Given the description of an element on the screen output the (x, y) to click on. 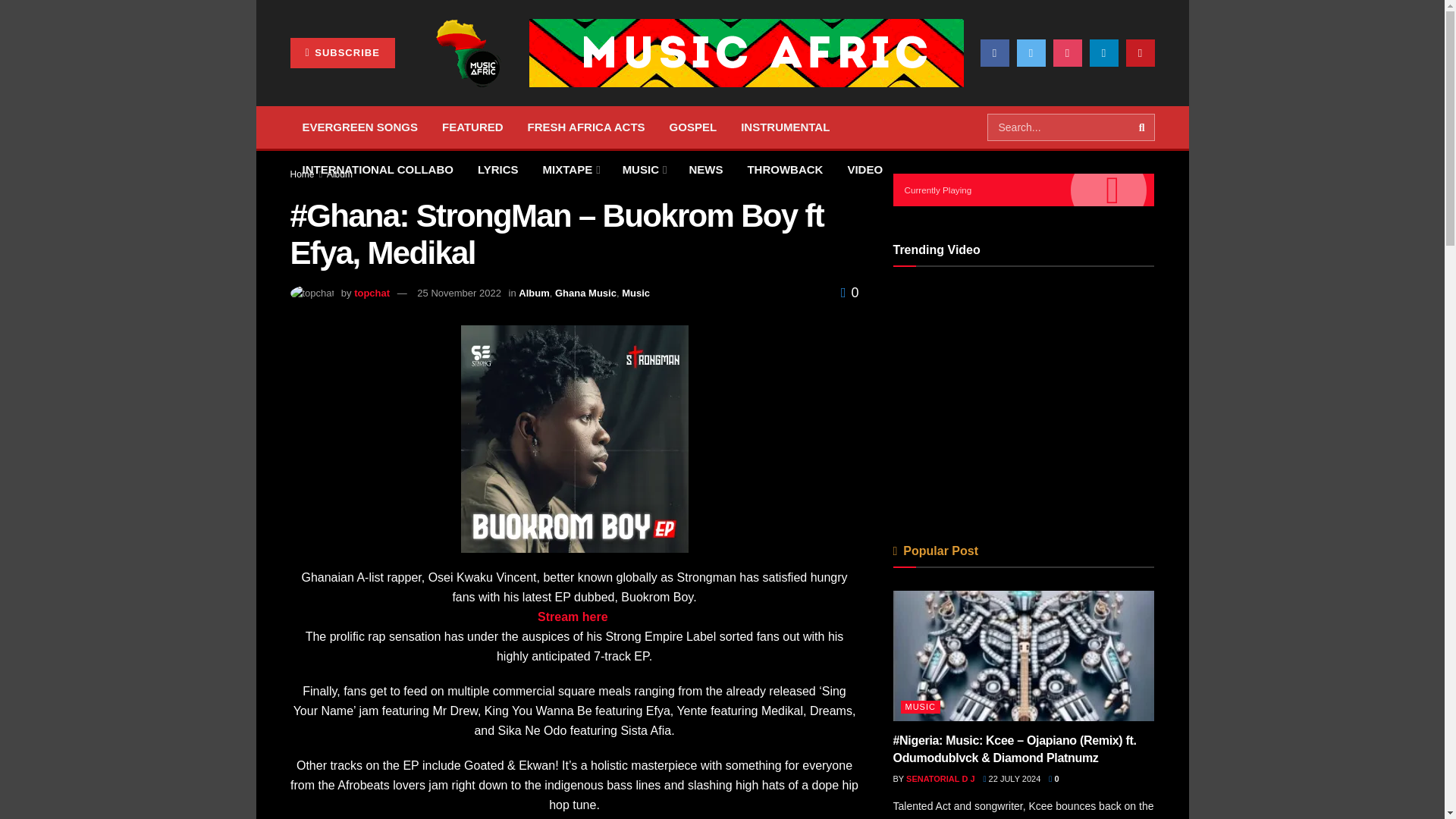
LYRICS (498, 169)
INTERNATIONAL COLLABO (376, 169)
INSTRUMENTAL (785, 127)
MIXTAPE (570, 169)
SUBSCRIBE (341, 52)
ALBUM (381, 84)
FEATURED (472, 127)
FRESH AFRICA ACTS (586, 127)
EVERGREEN SONGS (359, 127)
MUSIC (643, 169)
HOME (318, 84)
EVENT (833, 84)
GOSPEL (693, 127)
